Given the description of an element on the screen output the (x, y) to click on. 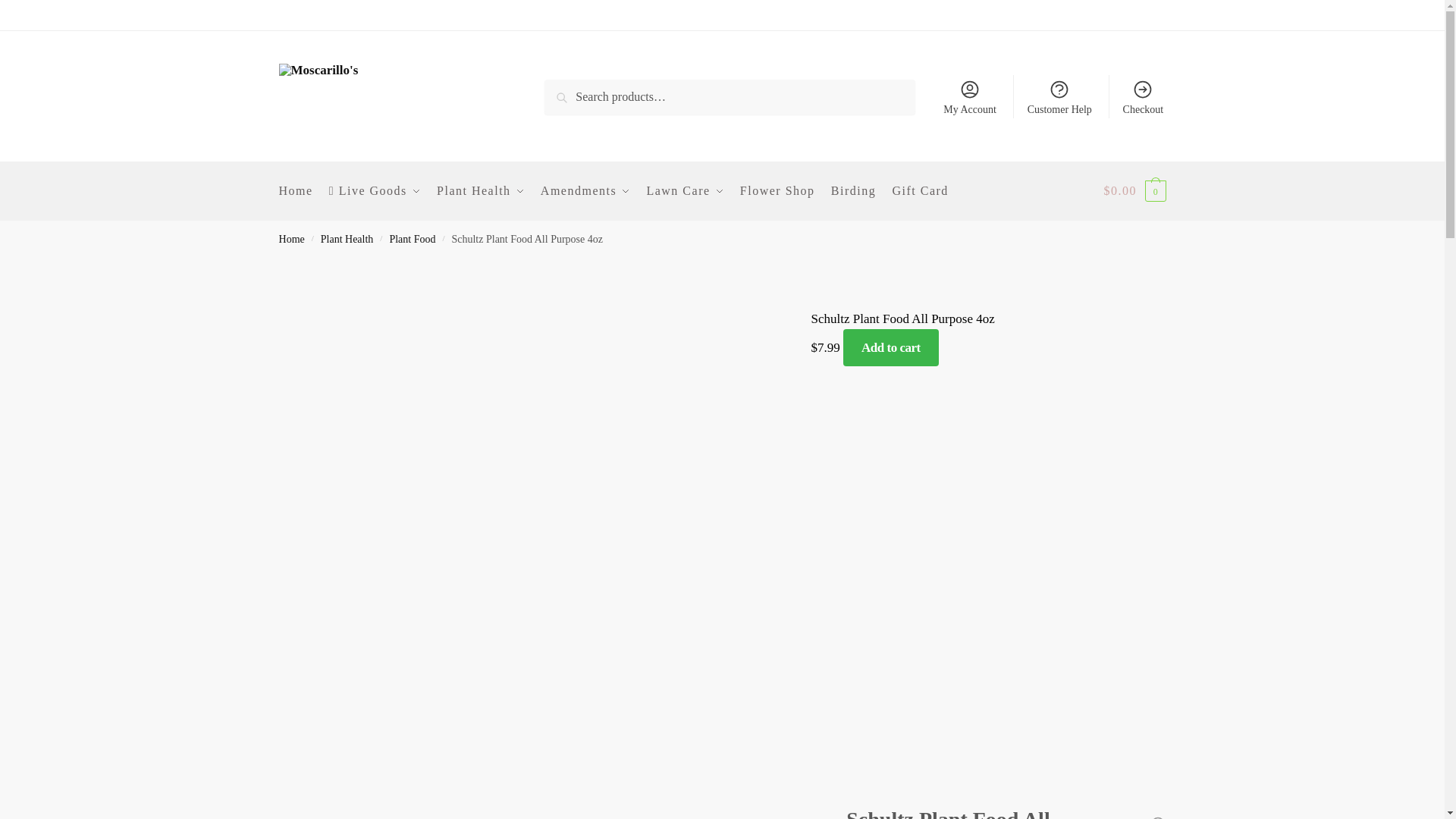
Plant Health (480, 190)
Checkout (1142, 96)
Lawn Care (684, 190)
Search (581, 98)
Amendments (585, 190)
View your shopping cart (1134, 190)
My Account (970, 96)
Customer Help (1058, 96)
